Given the description of an element on the screen output the (x, y) to click on. 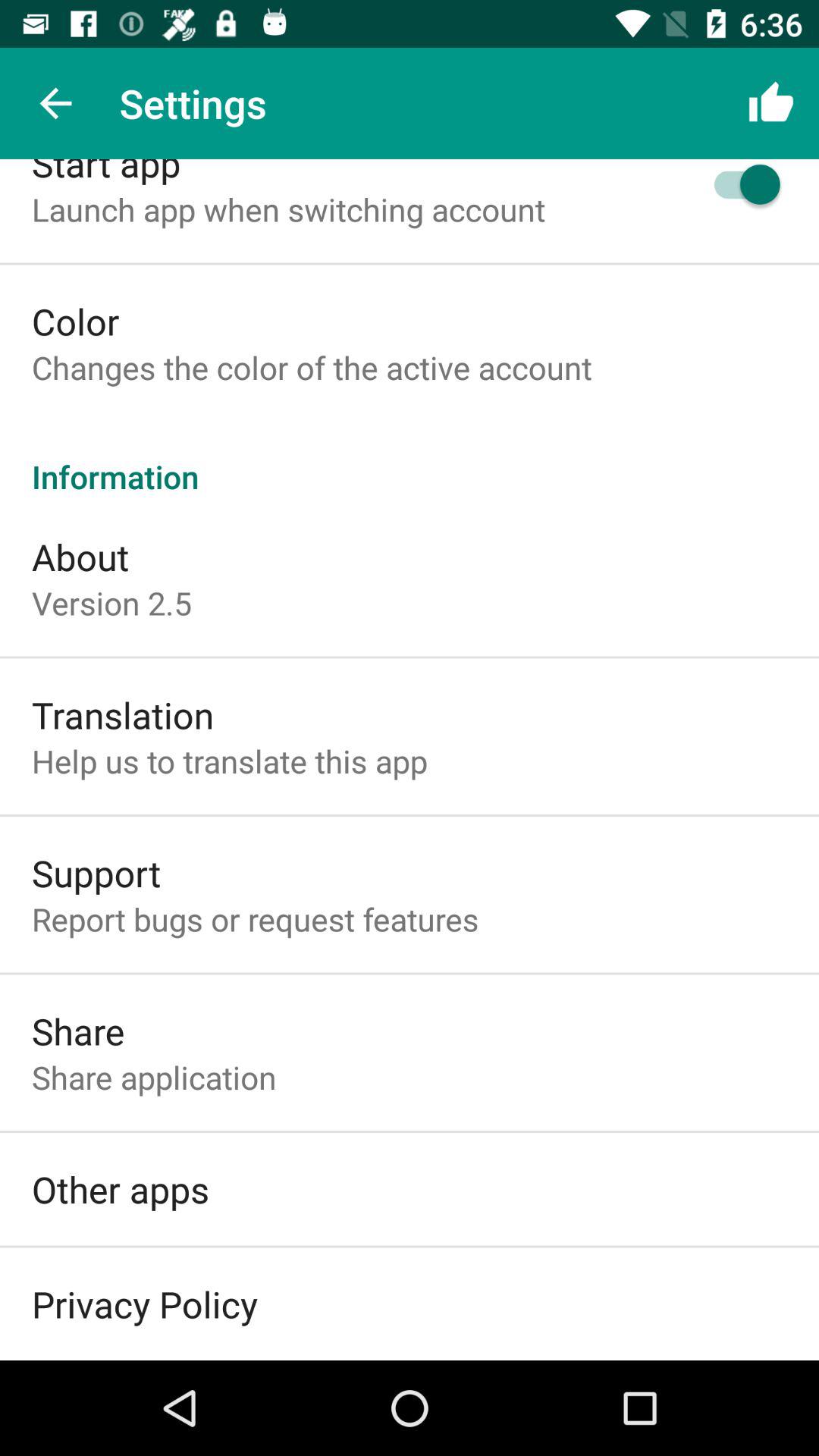
turn on icon to the left of the settings app (55, 103)
